Given the description of an element on the screen output the (x, y) to click on. 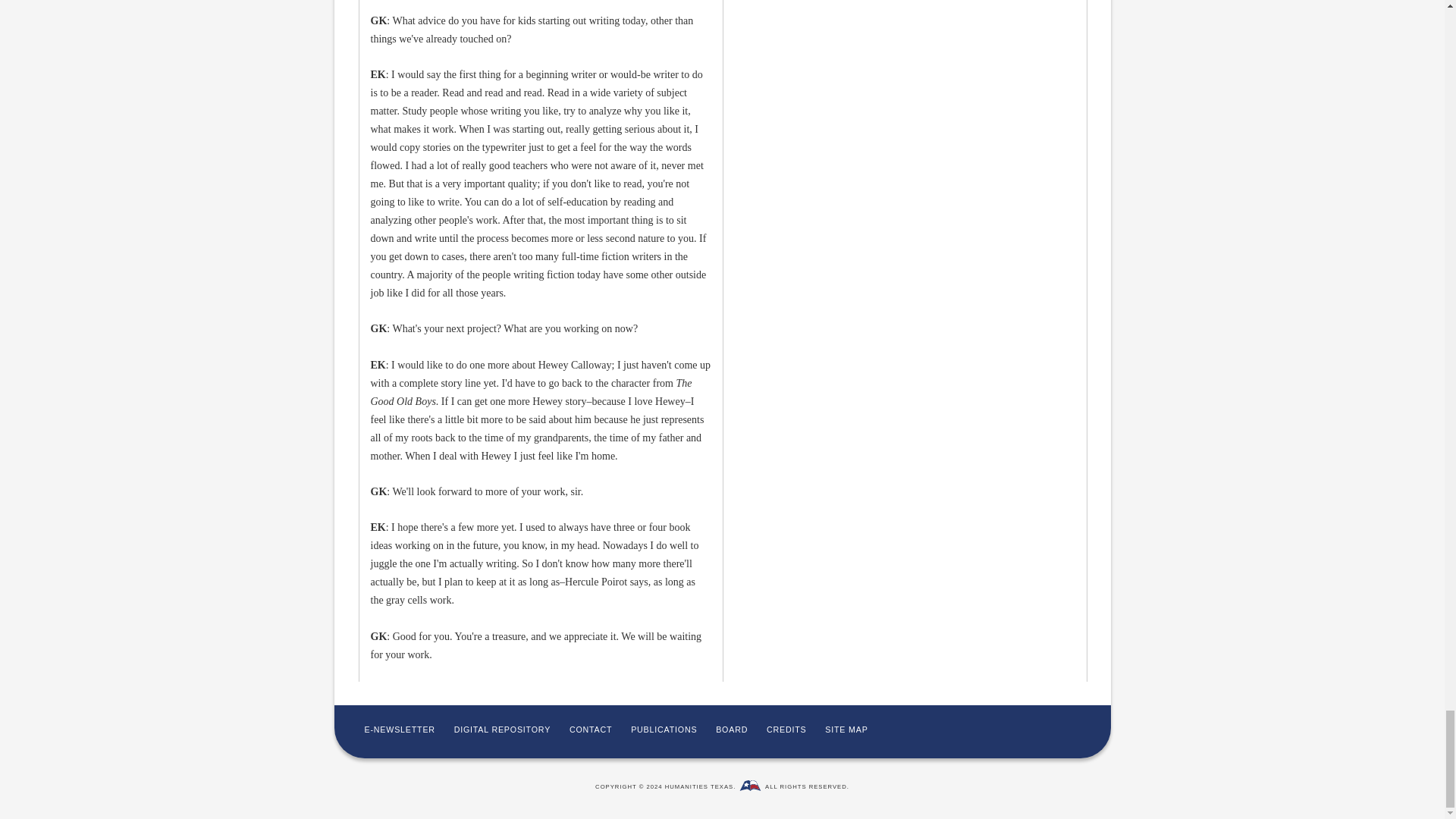
PUBLICATIONS (663, 728)
CONTACT (590, 728)
BOARD (732, 728)
E-NEWSLETTER (398, 728)
SITE MAP (846, 728)
DIGITAL REPOSITORY (502, 728)
CREDITS (786, 728)
